Given the description of an element on the screen output the (x, y) to click on. 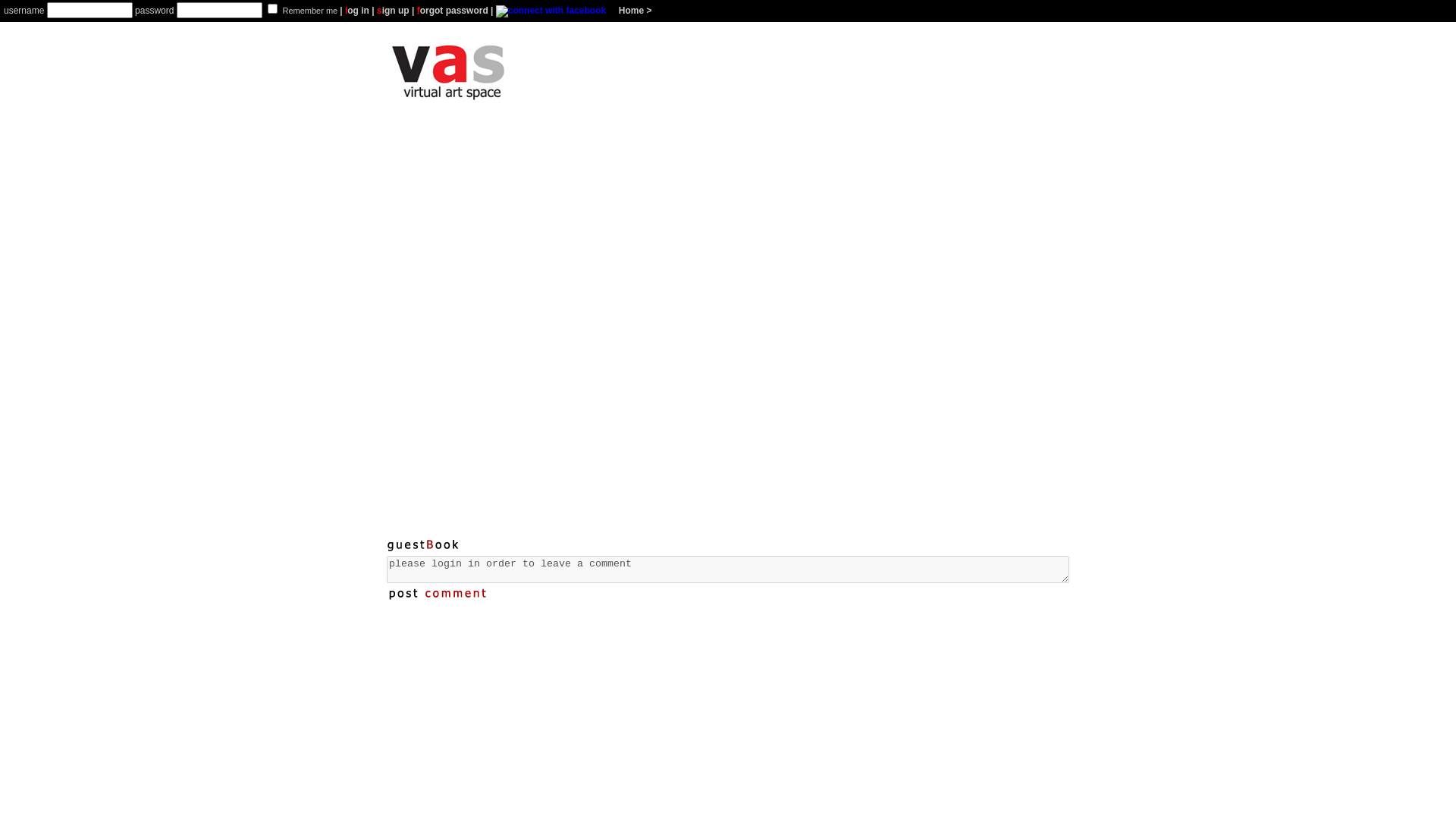
post comment Element type: text (439, 593)
